Given the description of an element on the screen output the (x, y) to click on. 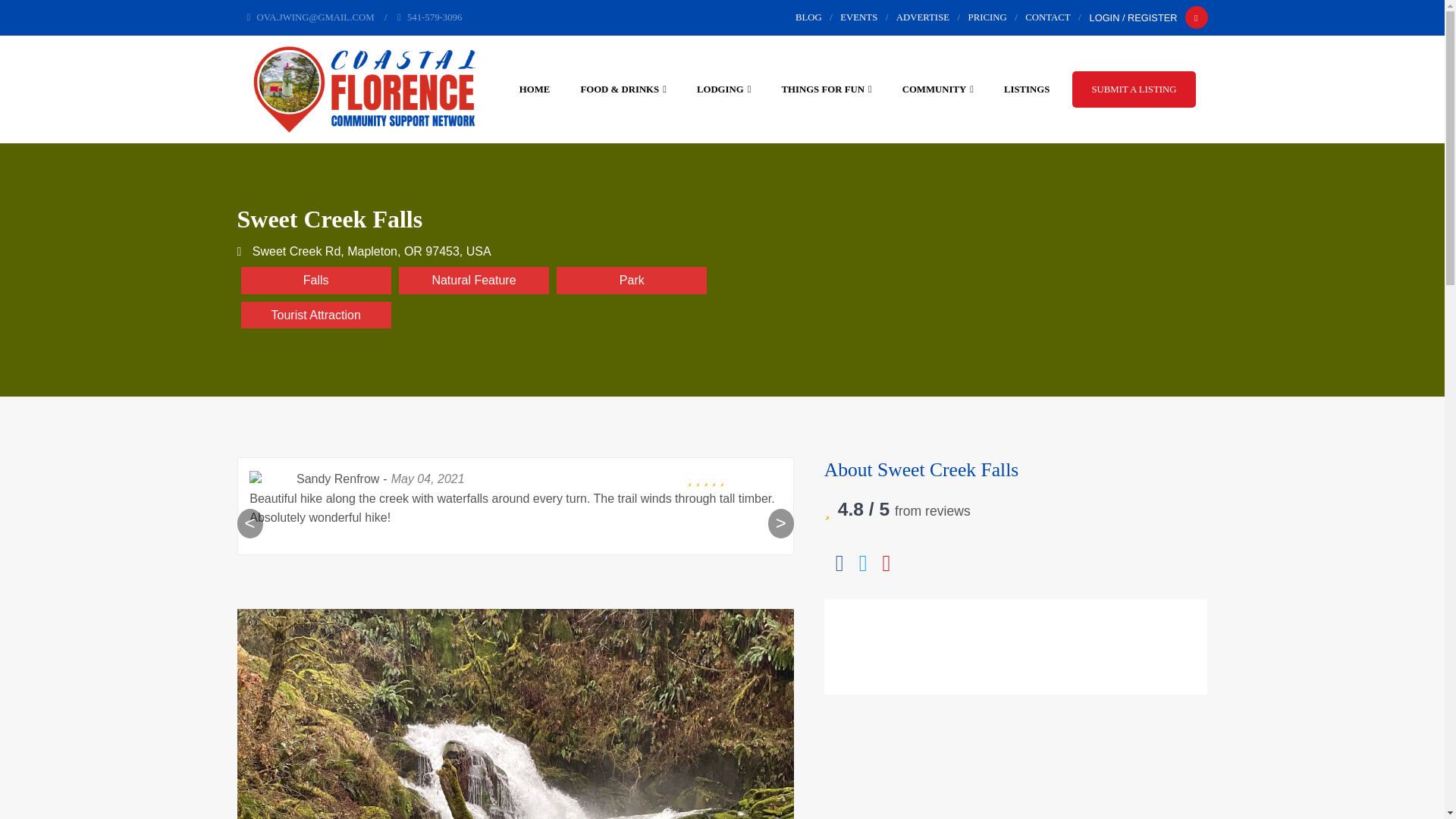
THINGS FOR FUN (826, 89)
PRICING (987, 17)
HOME (534, 89)
LODGING (723, 89)
541-579-3096 (429, 17)
EVENTS (858, 17)
ADVERTISE (922, 17)
COMMUNITY (938, 89)
CONTACT (1047, 17)
